Given the description of an element on the screen output the (x, y) to click on. 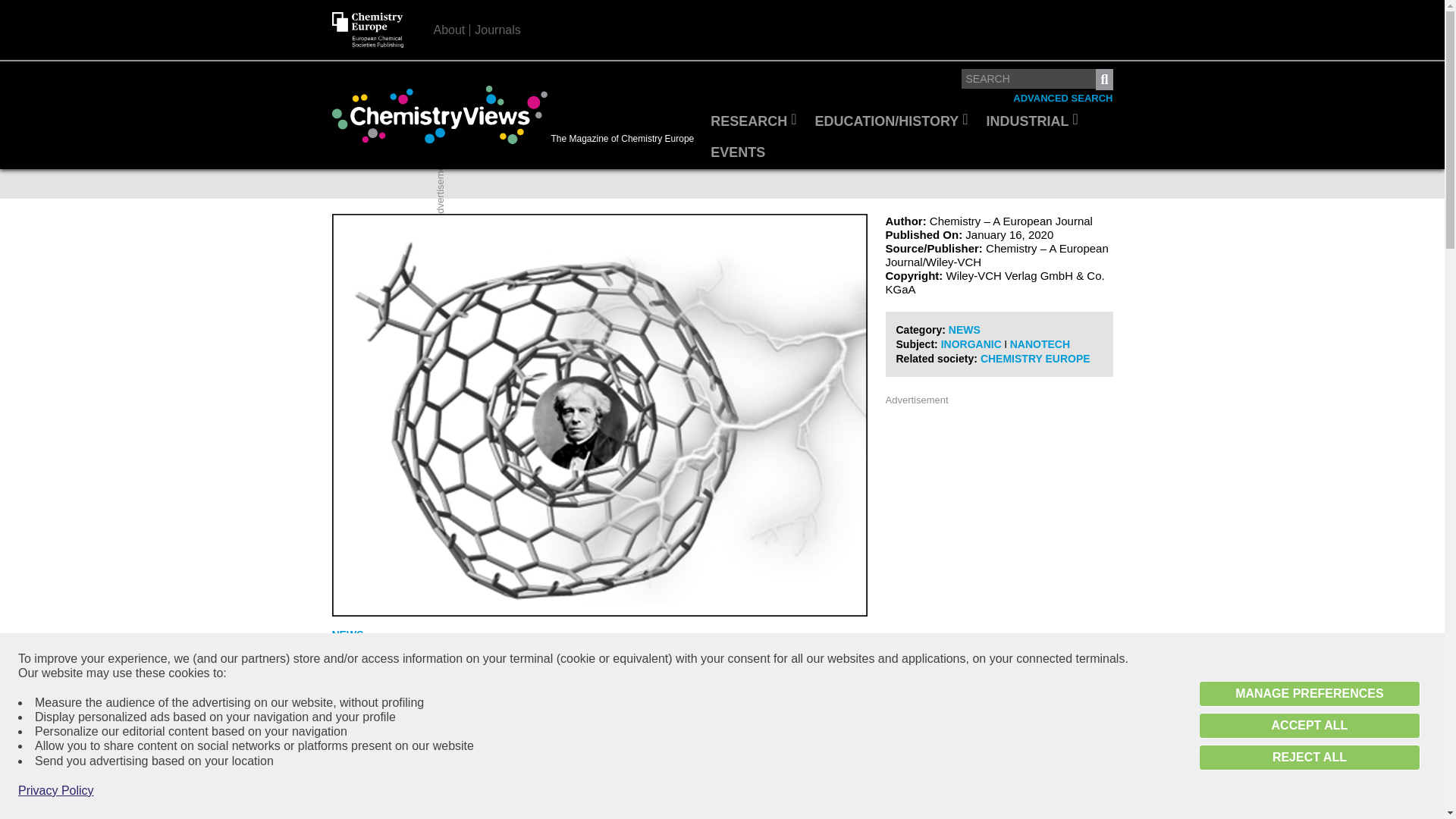
INDUSTRIAL (1031, 122)
Journals (496, 29)
The Magazine of Chemistry Europe (516, 114)
ACCEPT ALL (1309, 725)
RESEARCH (753, 122)
MANAGE PREFERENCES (1309, 693)
About (449, 29)
REJECT ALL (1309, 757)
ADVANCED SEARCH (1062, 98)
Privacy Policy (55, 789)
